Given the description of an element on the screen output the (x, y) to click on. 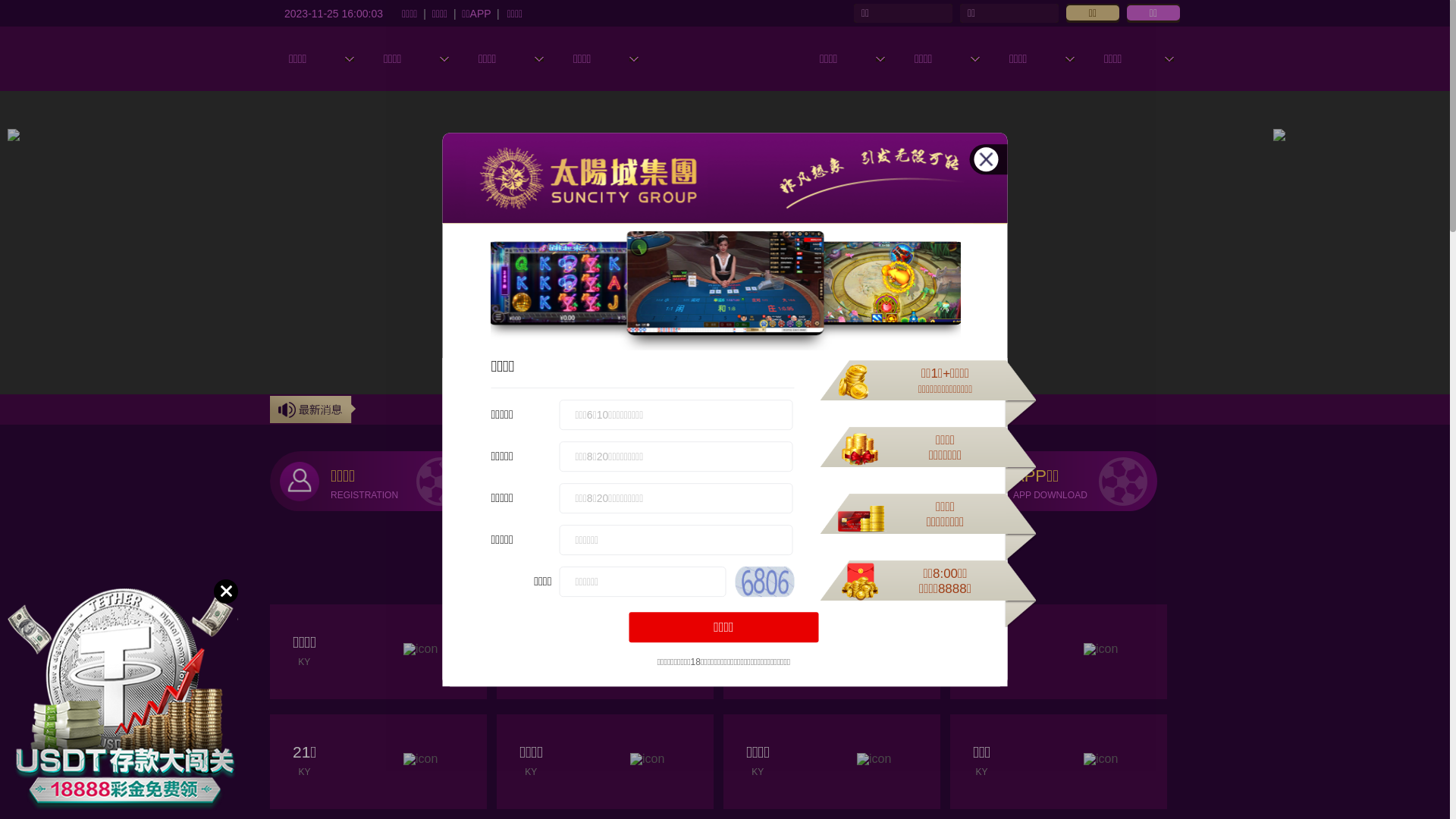
2023-11-25 16:00:02 Element type: text (333, 12)
